Given the description of an element on the screen output the (x, y) to click on. 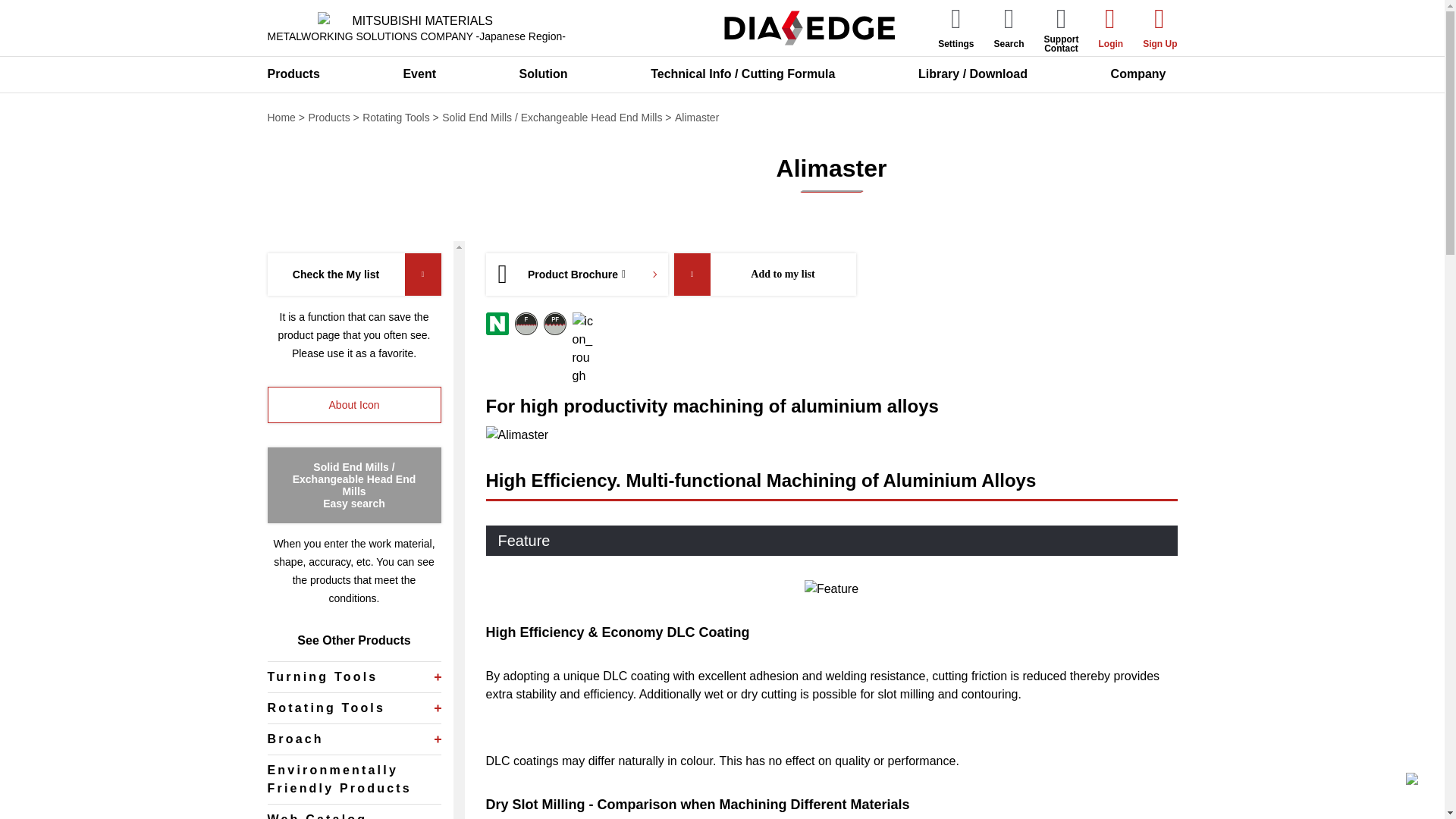
METALWORKING SOLUTIONS COMPANY -Japanese Region- (415, 28)
Solution (549, 74)
Event (424, 74)
Products (298, 74)
